Given the description of an element on the screen output the (x, y) to click on. 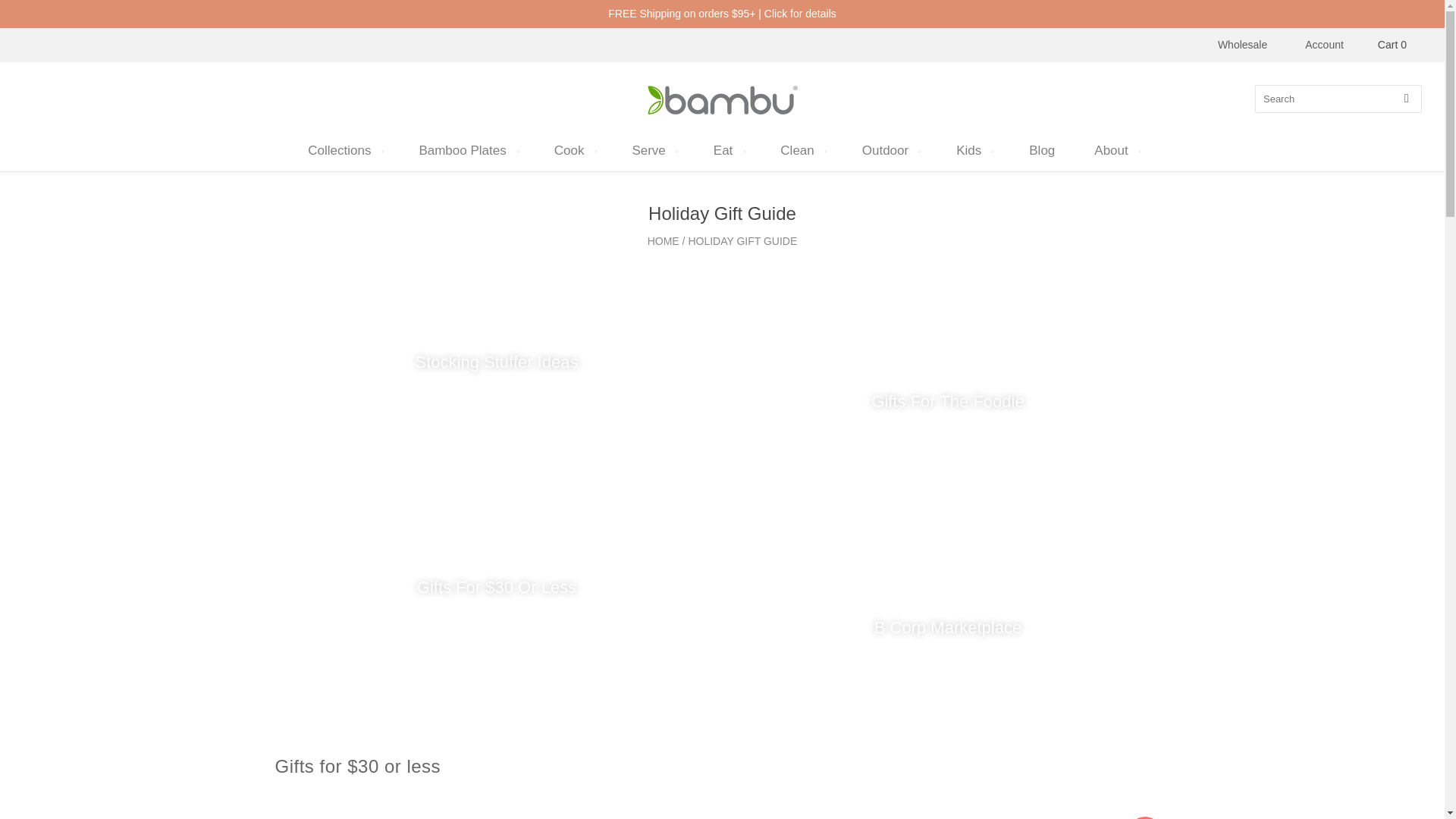
Wholesale (1241, 44)
Cart 0 (1391, 45)
Account (1323, 44)
